Given the description of an element on the screen output the (x, y) to click on. 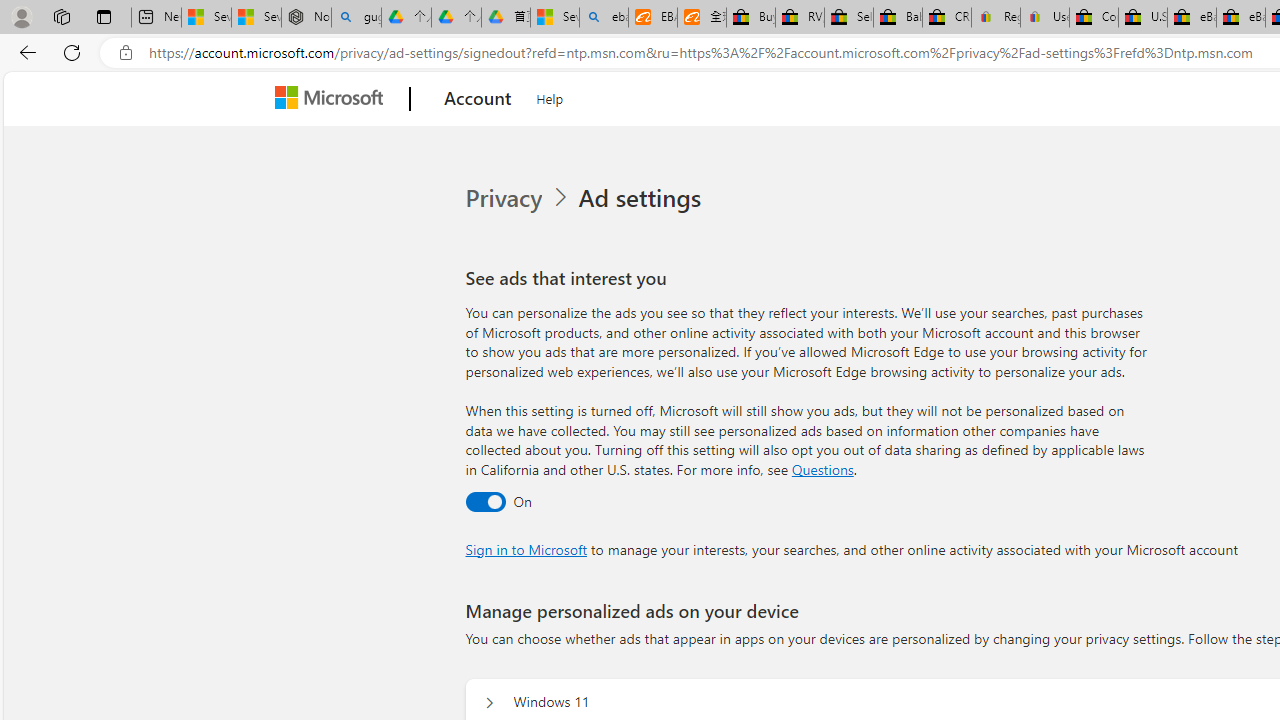
U.S. State Privacy Disclosures - eBay Inc. (1142, 17)
Ad settings (643, 197)
Consumer Health Data Privacy Policy - eBay Inc. (1093, 17)
Sign in to Microsoft (525, 548)
Microsoft (332, 99)
User Privacy Notice | eBay (1044, 17)
Account (477, 99)
